Given the description of an element on the screen output the (x, y) to click on. 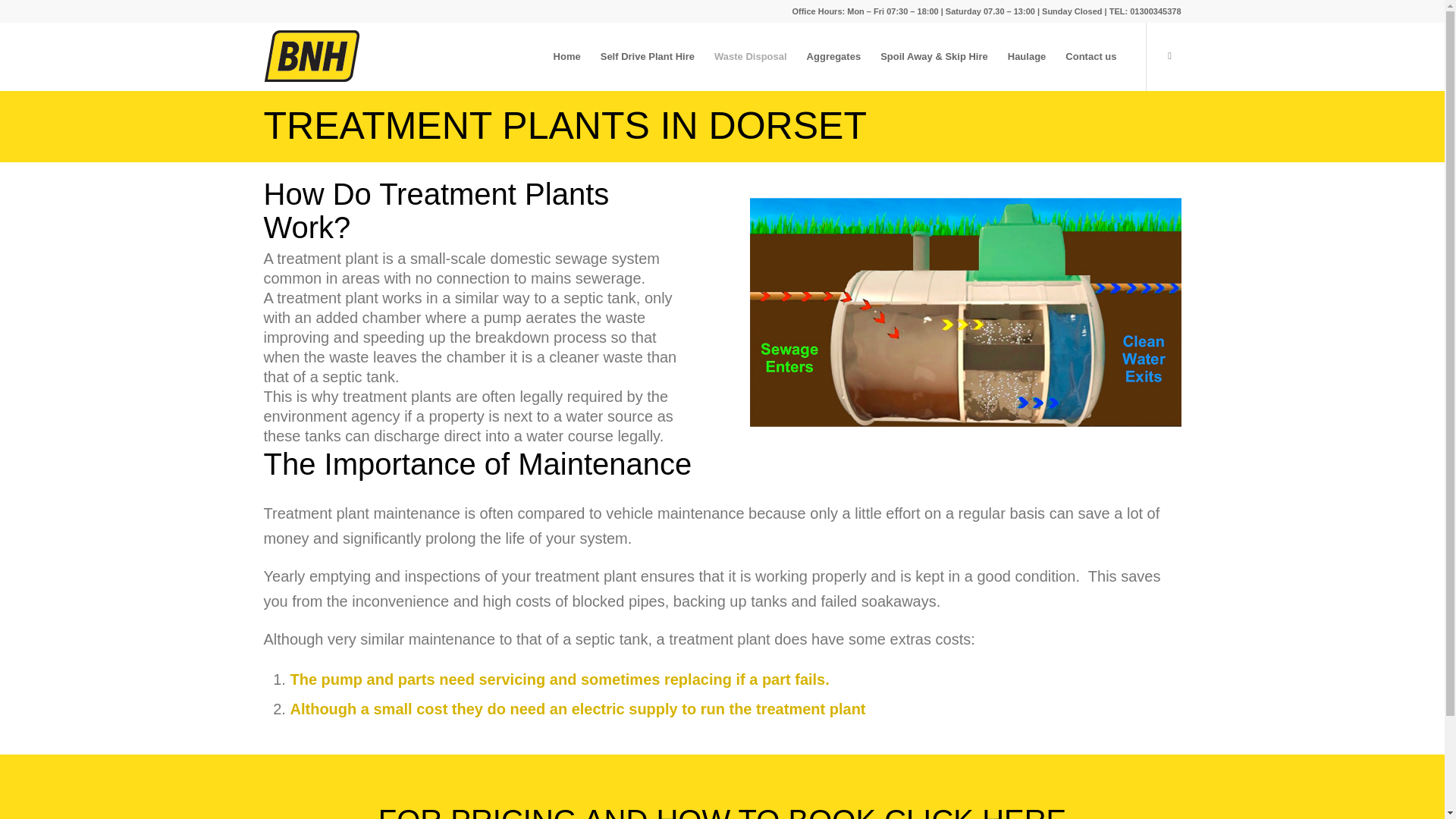
Waste Disposal (750, 56)
Self Drive Plant Hire (647, 56)
Aggregates (833, 56)
Contact us (1090, 56)
FOR PRICING AND HOW TO BOOK CLICK HERE (722, 811)
Home (567, 56)
01300345378 (1154, 10)
Facebook (1169, 56)
Haulage (1027, 56)
